Given the description of an element on the screen output the (x, y) to click on. 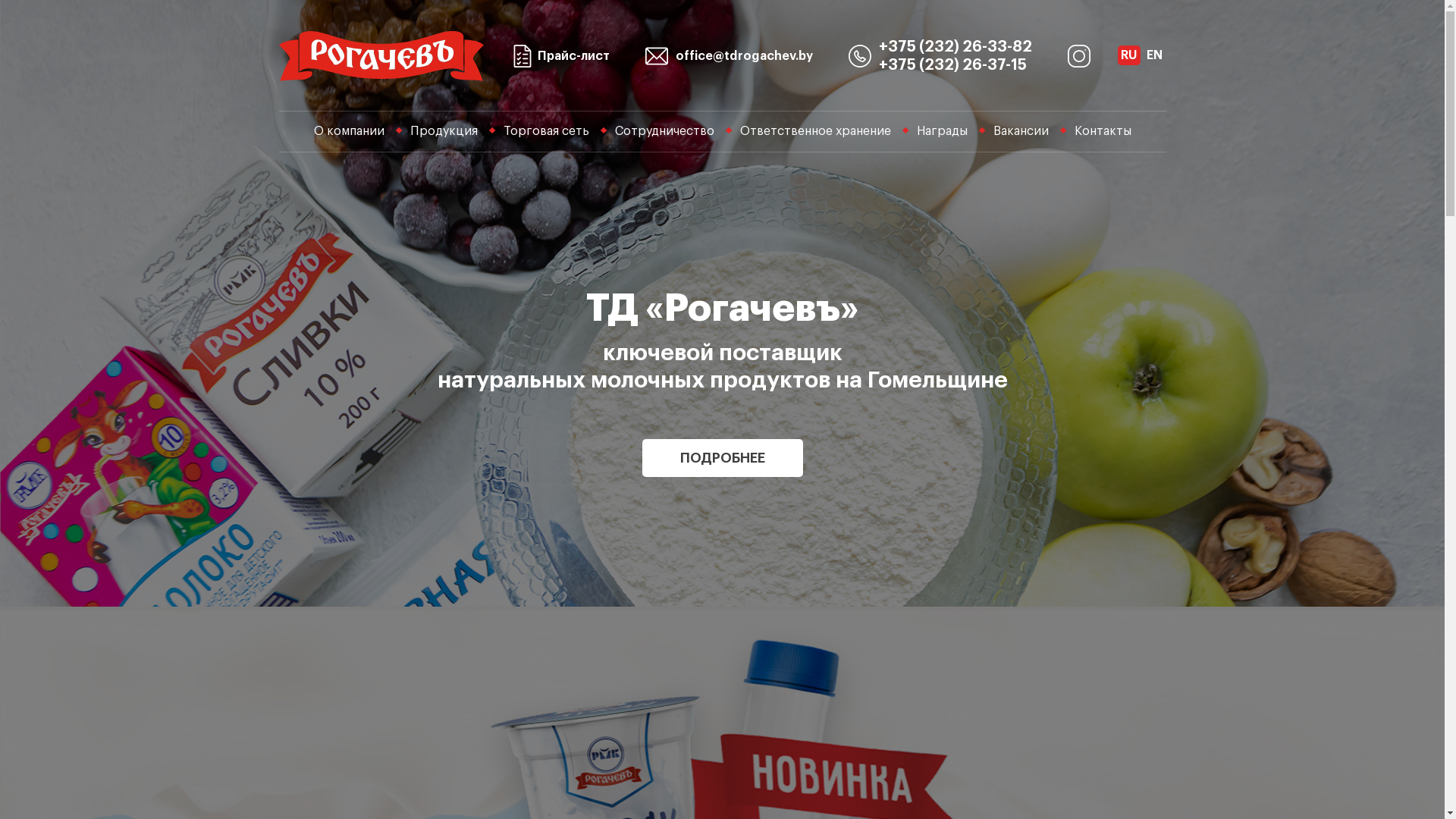
office@tdrogachev.by Element type: text (728, 55)
+375 (232) 26-37-15 Element type: text (952, 64)
RU Element type: text (1128, 55)
+375 (232) 26-33-82 Element type: text (955, 46)
EN Element type: text (1154, 55)
